Given the description of an element on the screen output the (x, y) to click on. 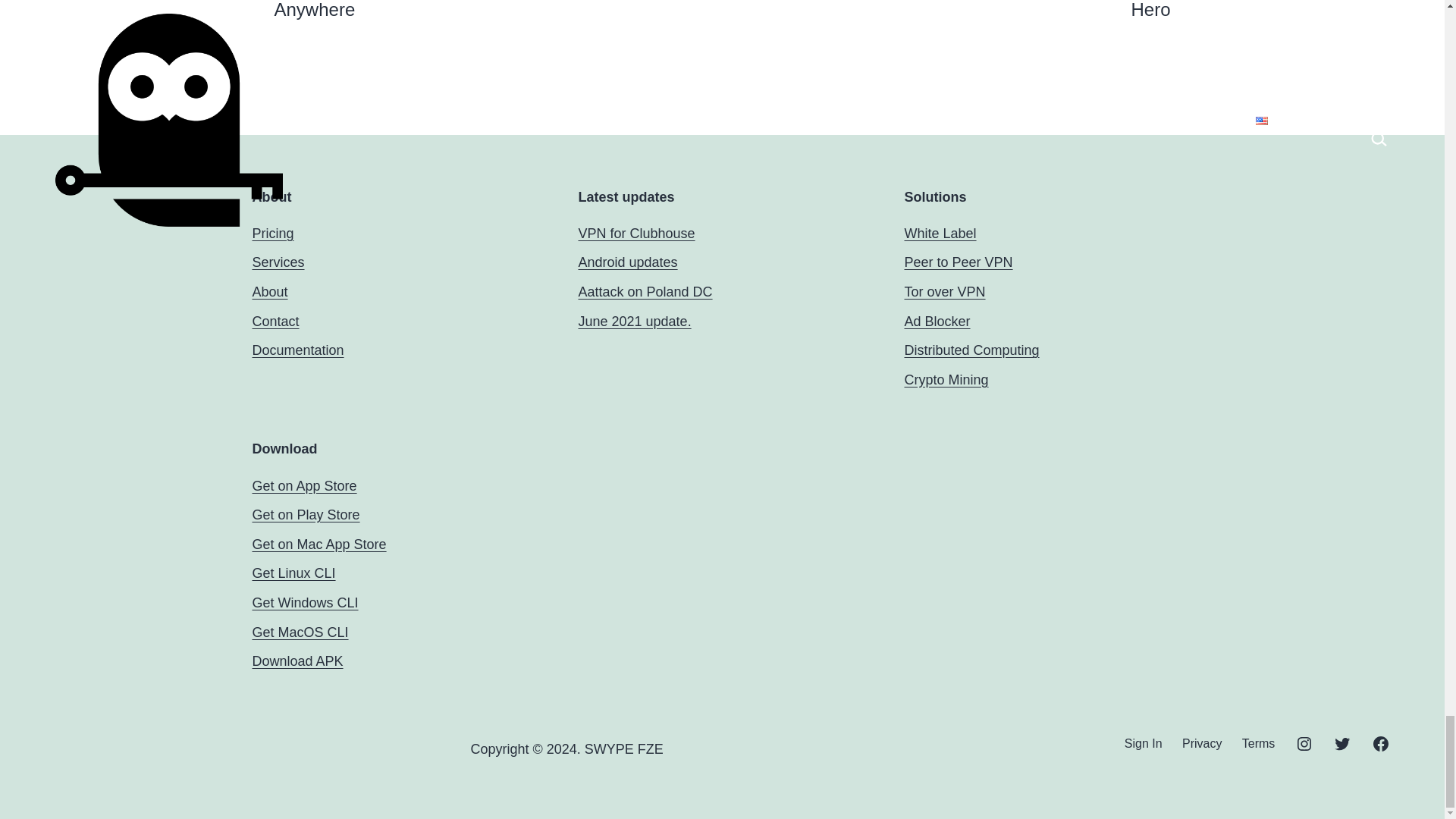
Services (277, 262)
Tor over VPN (944, 291)
Pricing (272, 233)
Get on Play Store (305, 514)
Ad Blocker (936, 321)
Contact (274, 321)
June 2021 update. (634, 321)
Get on Mac App Store (318, 544)
White Label (939, 233)
